Given the description of an element on the screen output the (x, y) to click on. 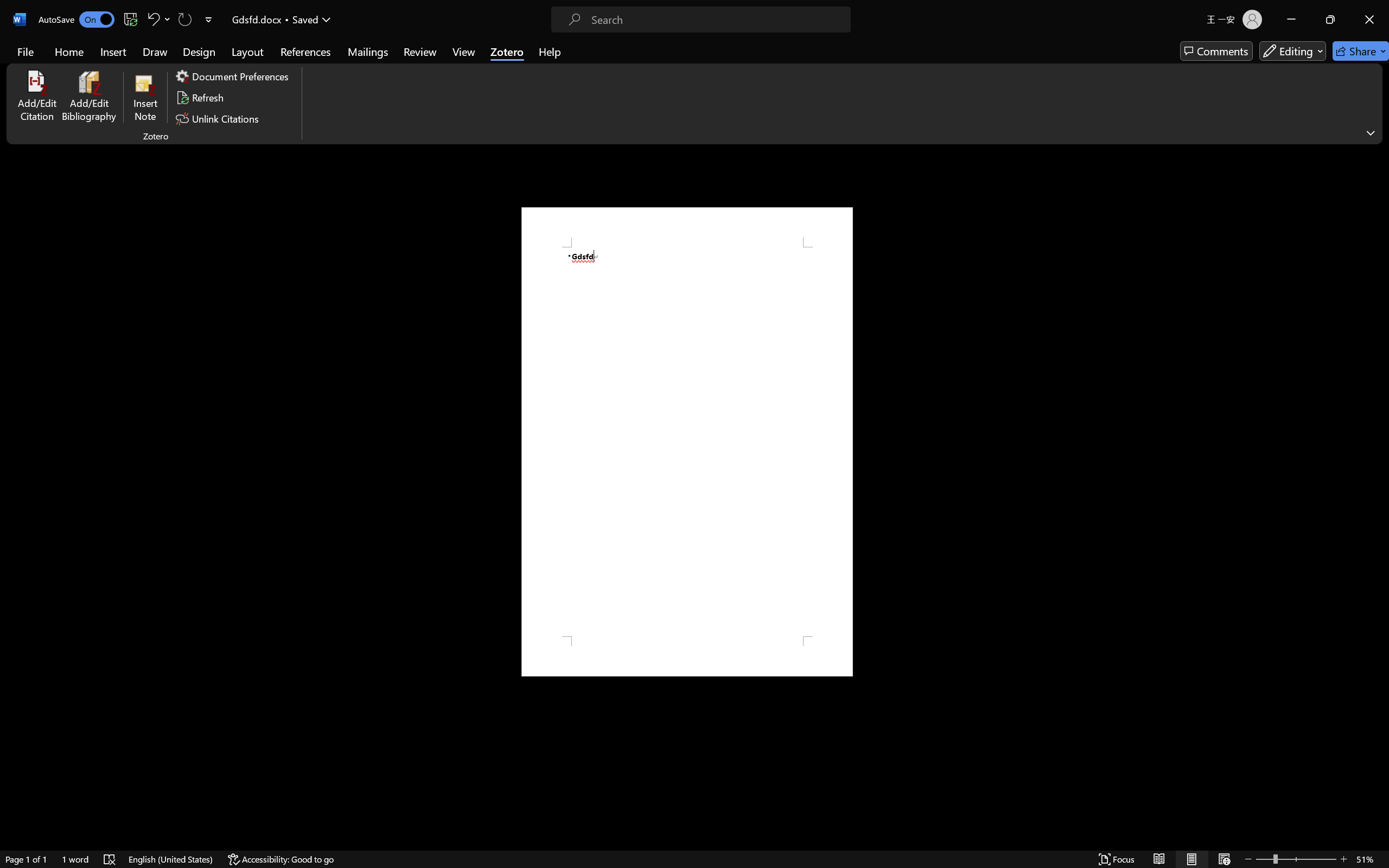
Page 1 content (686, 441)
